Given the description of an element on the screen output the (x, y) to click on. 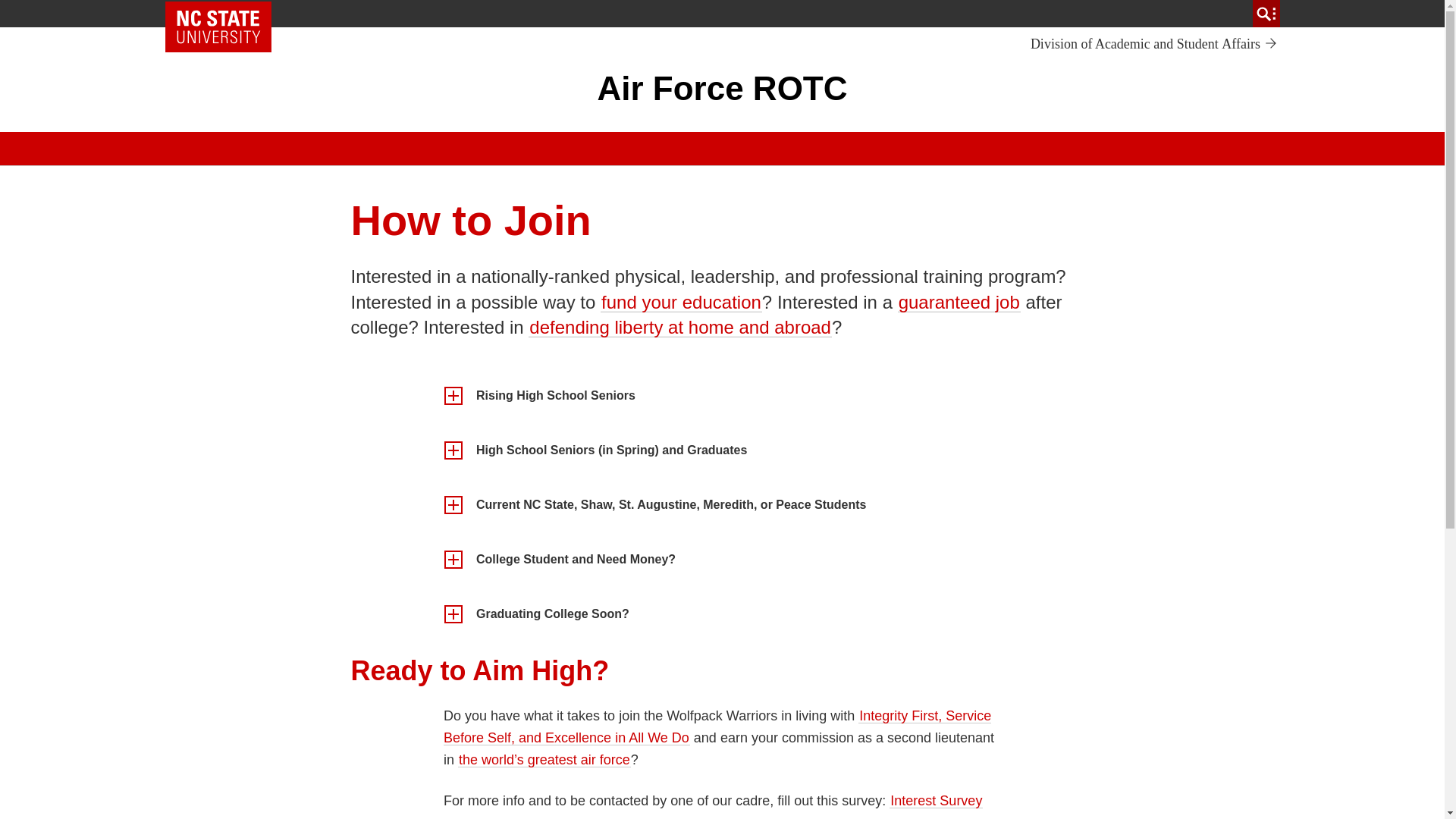
Air Force ROTC (1154, 44)
NC State Home (721, 88)
